Given the description of an element on the screen output the (x, y) to click on. 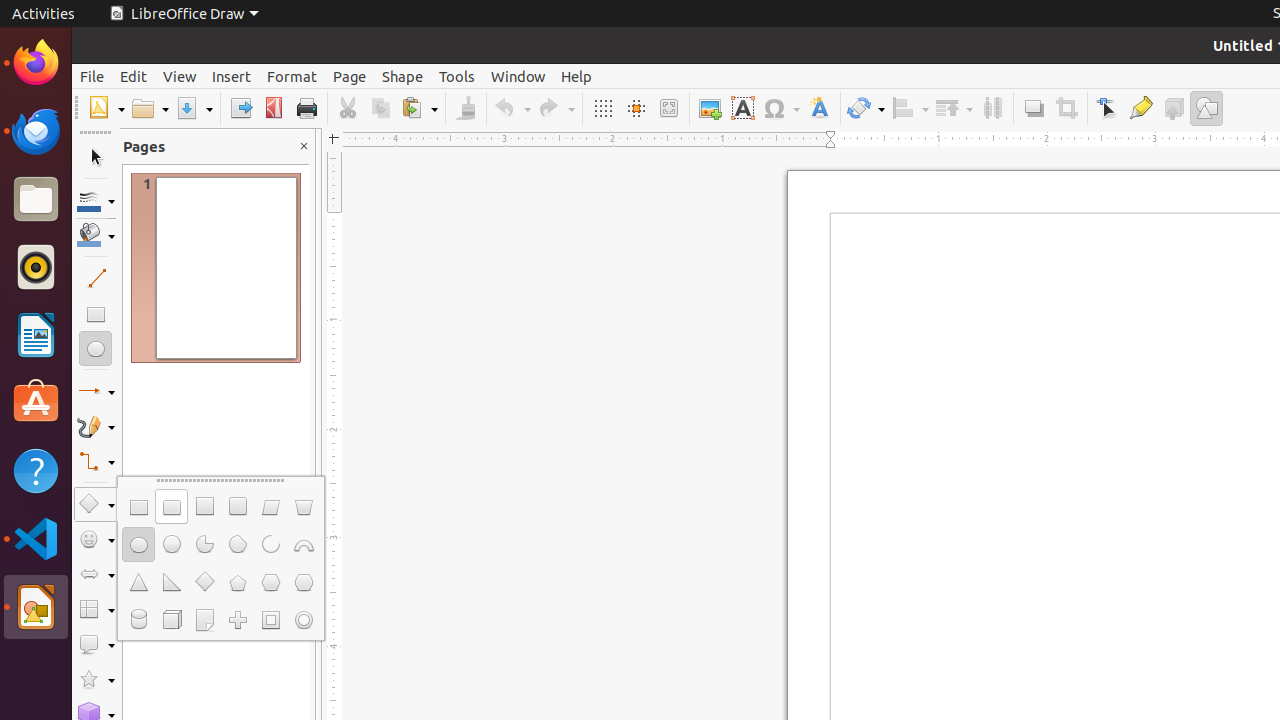
Helplines While Moving Element type: toggle-button (635, 108)
Redo Element type: push-button (556, 108)
PDF Element type: push-button (273, 108)
Format Element type: menu (292, 76)
Zoom & Pan Element type: push-button (668, 108)
